Given the description of an element on the screen output the (x, y) to click on. 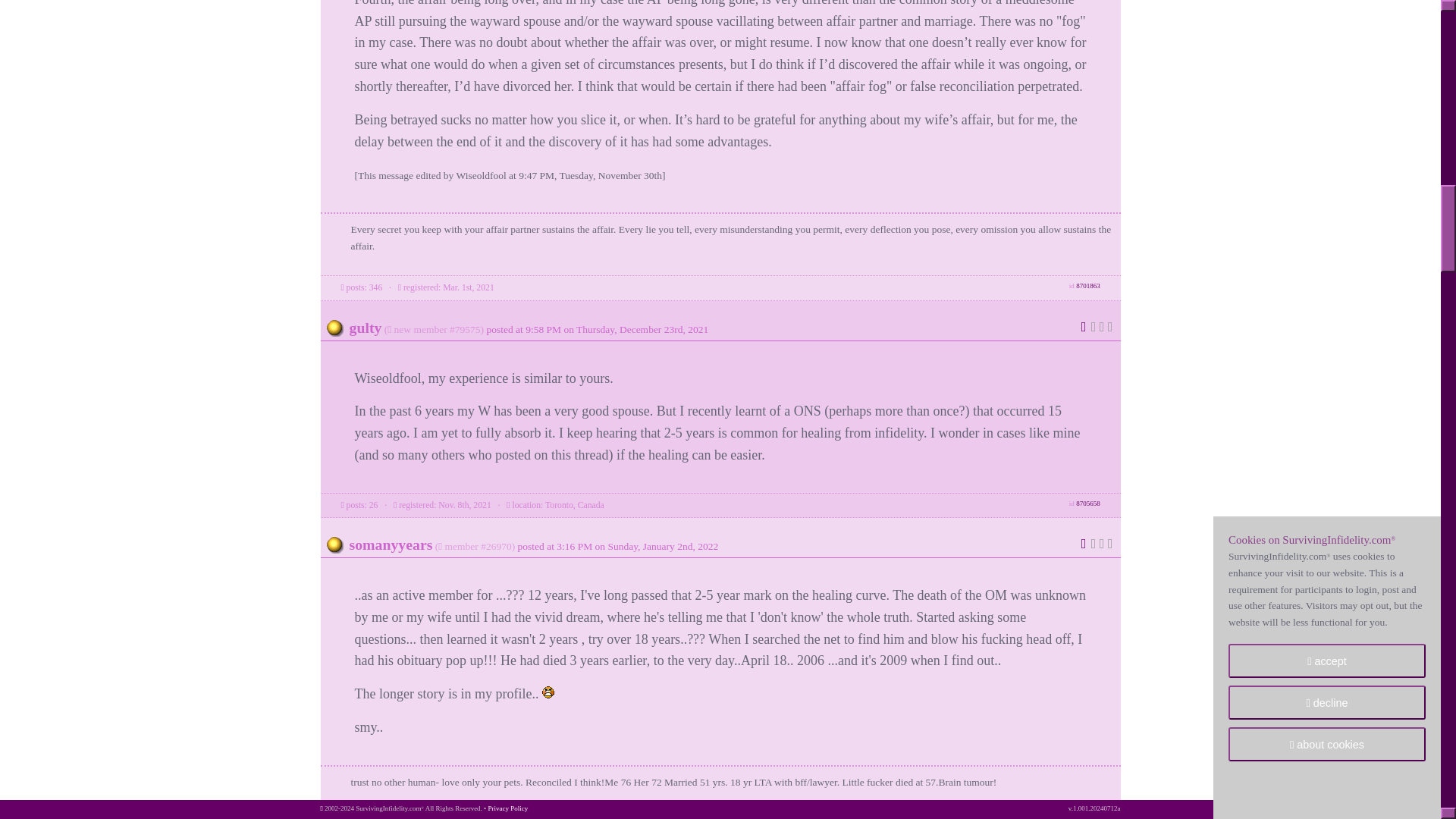
mad (547, 692)
